Given the description of an element on the screen output the (x, y) to click on. 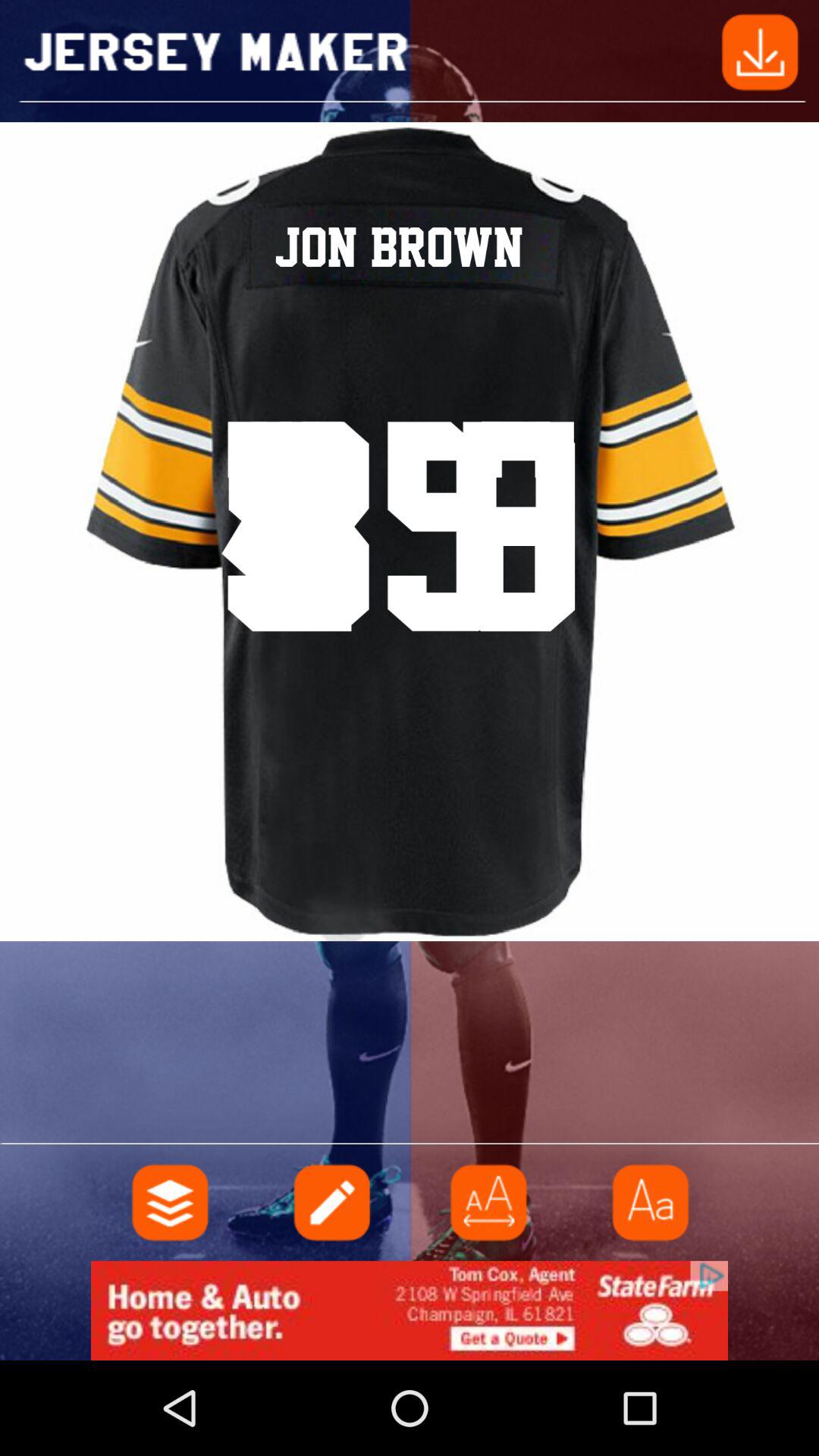
go to your files (170, 1202)
